Given the description of an element on the screen output the (x, y) to click on. 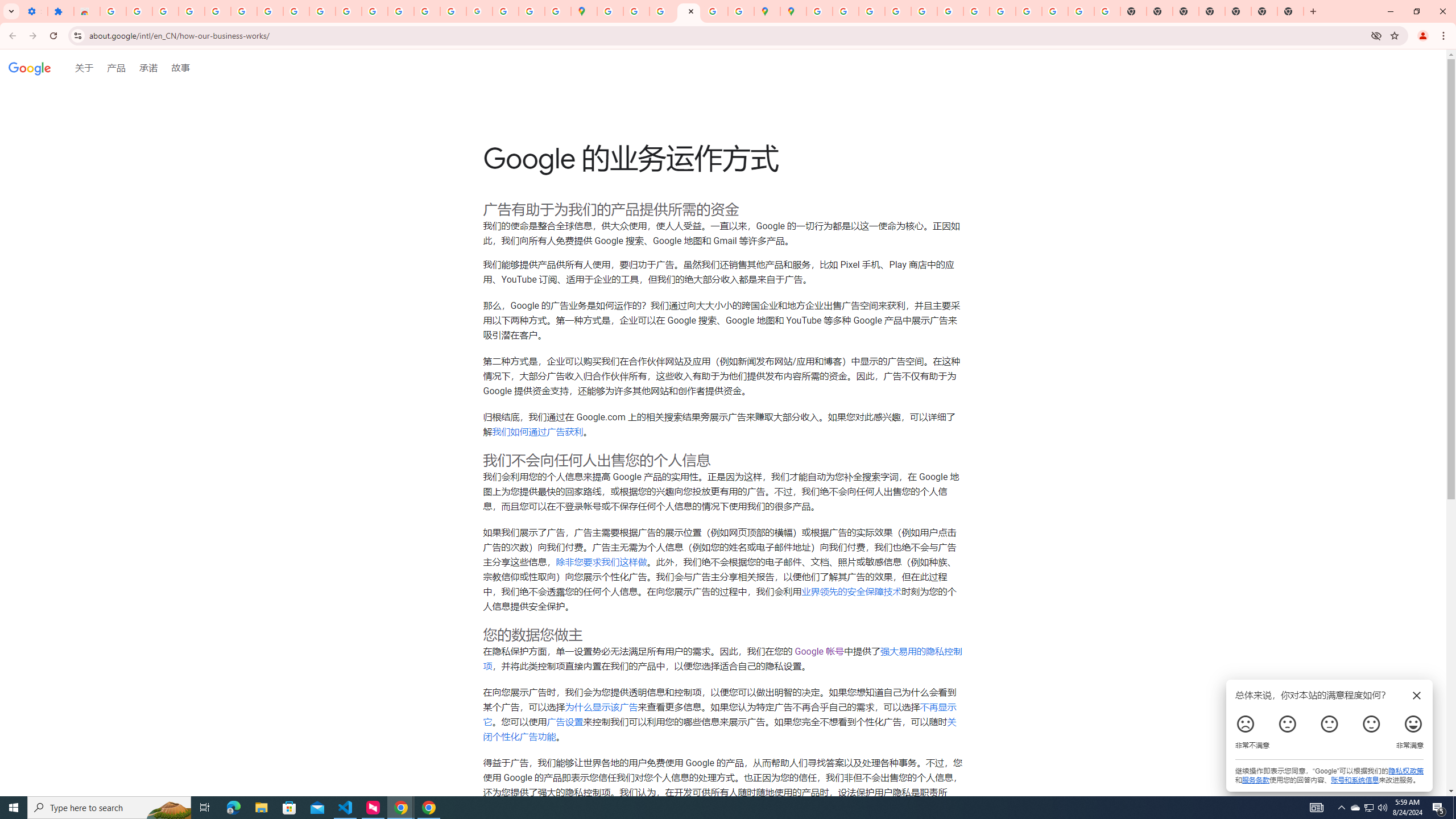
Privacy Help Center - Policies Help (897, 11)
https://scholar.google.com/ (374, 11)
Sign in - Google Accounts (243, 11)
YouTube (322, 11)
